Given the description of an element on the screen output the (x, y) to click on. 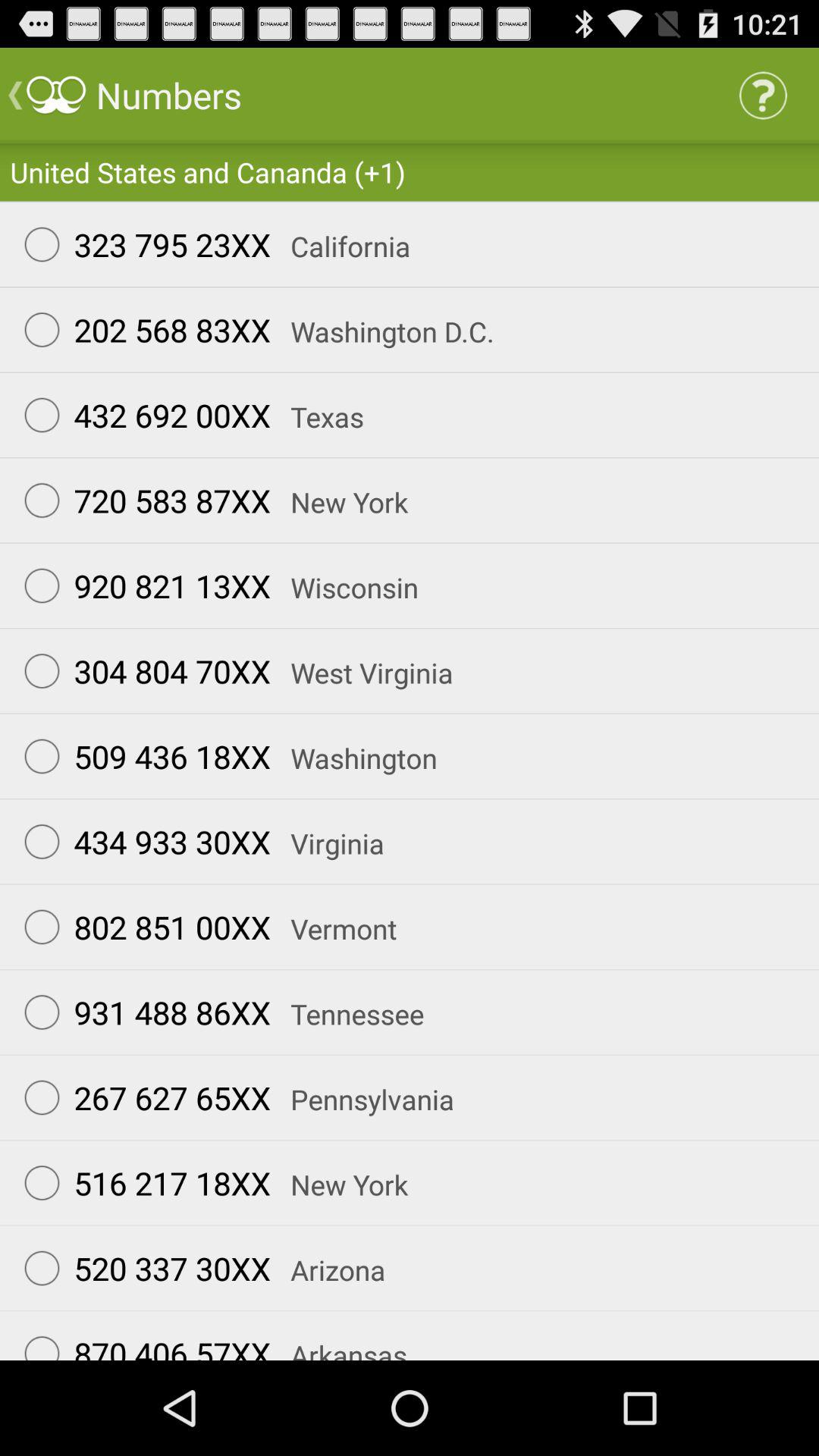
press radio button below 432 692 00xx icon (140, 500)
